Given the description of an element on the screen output the (x, y) to click on. 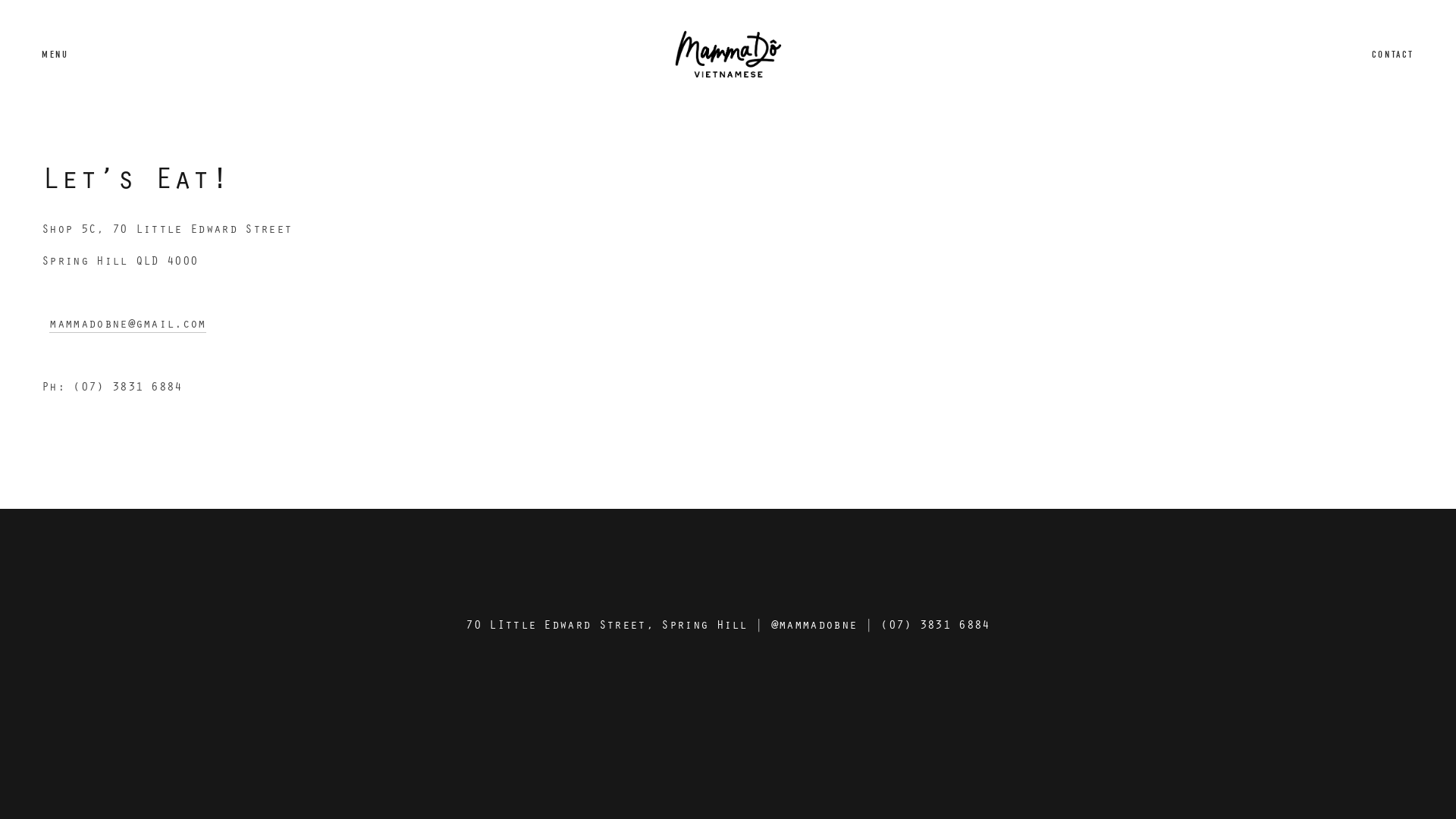
mammadobne@gmail.com Element type: text (127, 323)
CONTACT Element type: text (1392, 54)
MENU Element type: text (54, 54)
